Given the description of an element on the screen output the (x, y) to click on. 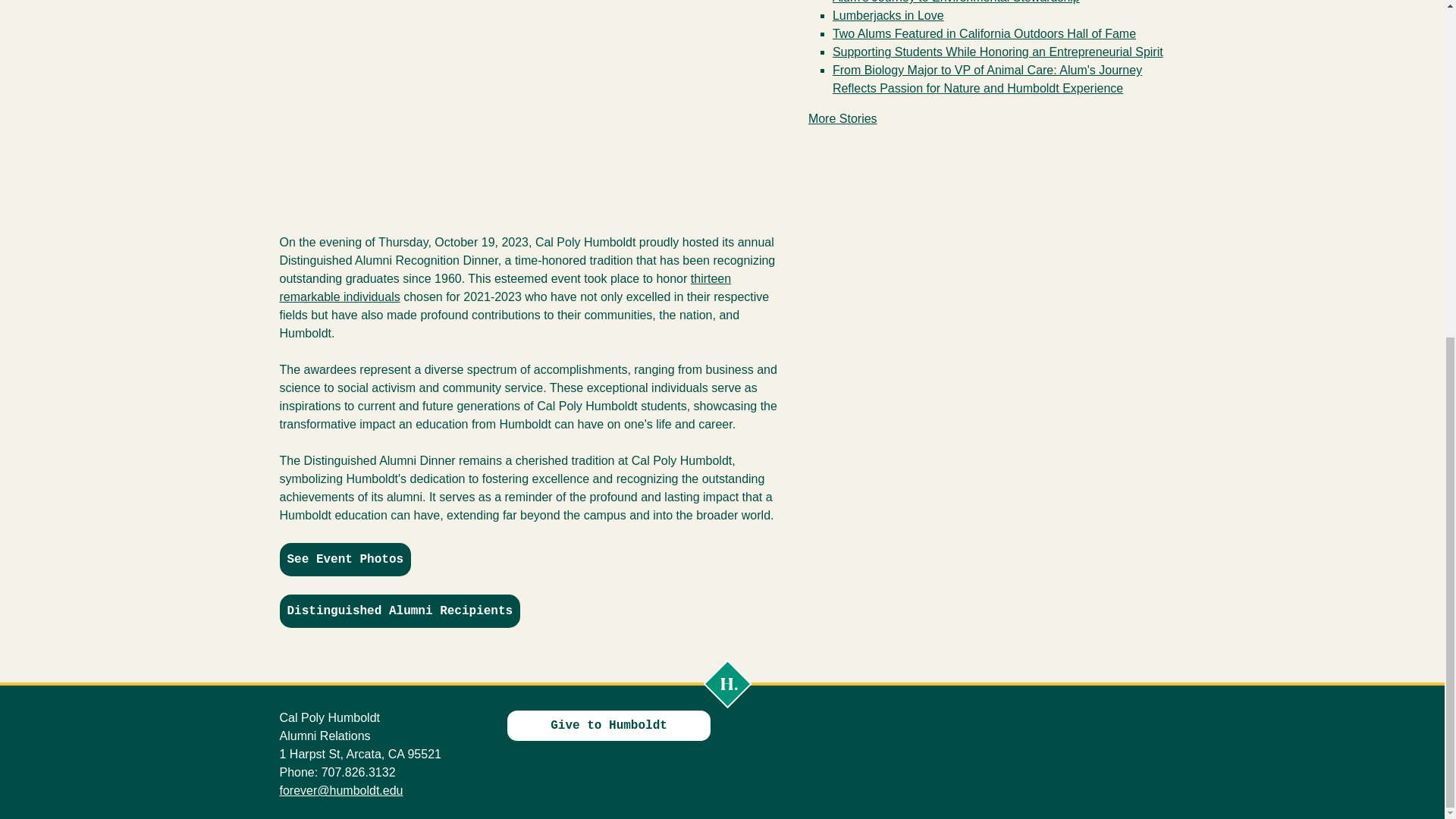
See Event Photos (344, 559)
Lumberjacks in Love (887, 15)
Give to Humboldt (608, 725)
Two Alums Featured in California Outdoors Hall of Fame (983, 33)
Distinguished Alumni Recipients (399, 611)
More Stories (842, 118)
Alum's Journey to Environmental Stewardship (956, 2)
Supporting Students While Honoring an Entrepreneurial Spirit (997, 51)
Cal Poly Humboldt (726, 684)
thirteen remarkable individuals (504, 287)
